Given the description of an element on the screen output the (x, y) to click on. 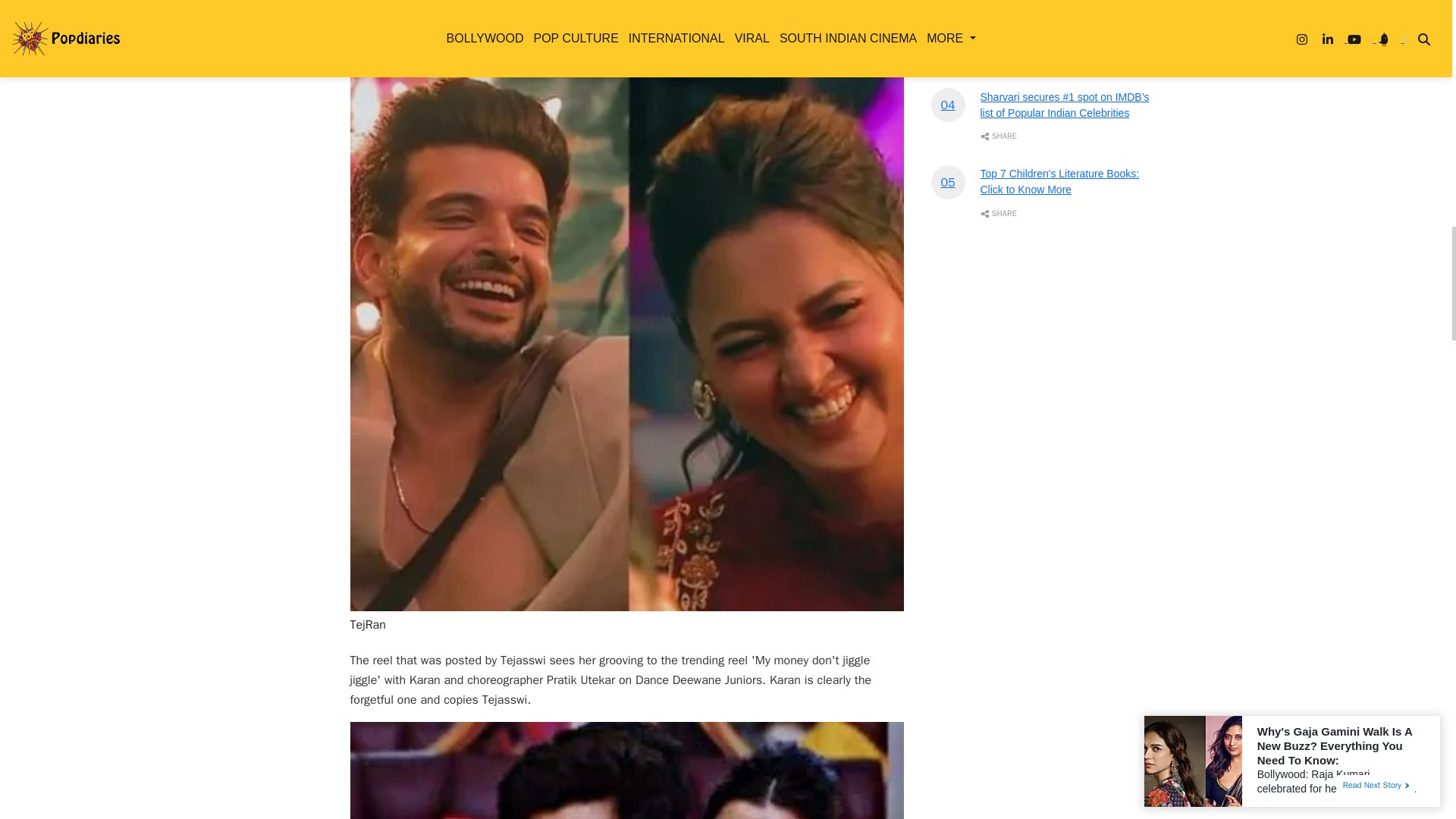
publive-image (627, 770)
